Given the description of an element on the screen output the (x, y) to click on. 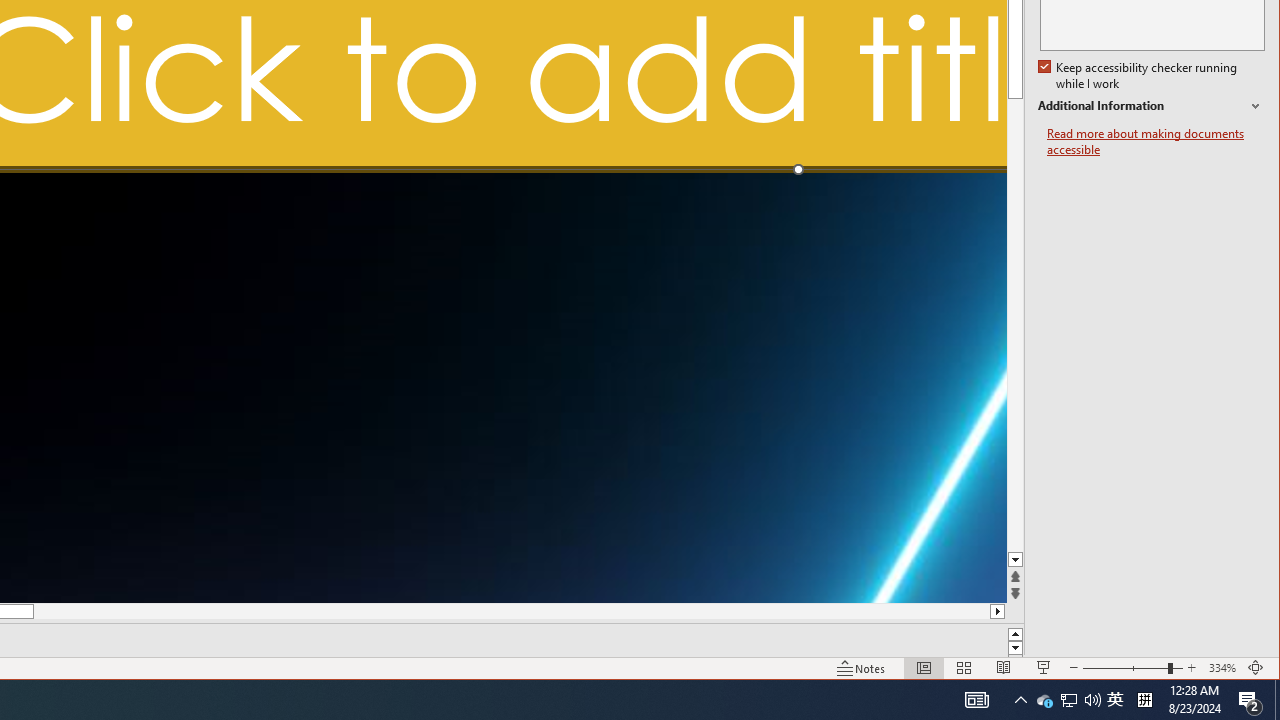
Read more about making documents accessible (1155, 142)
Action Center, 2 new notifications (1250, 699)
Keep accessibility checker running while I work (1044, 699)
Additional Information (1139, 76)
